Given the description of an element on the screen output the (x, y) to click on. 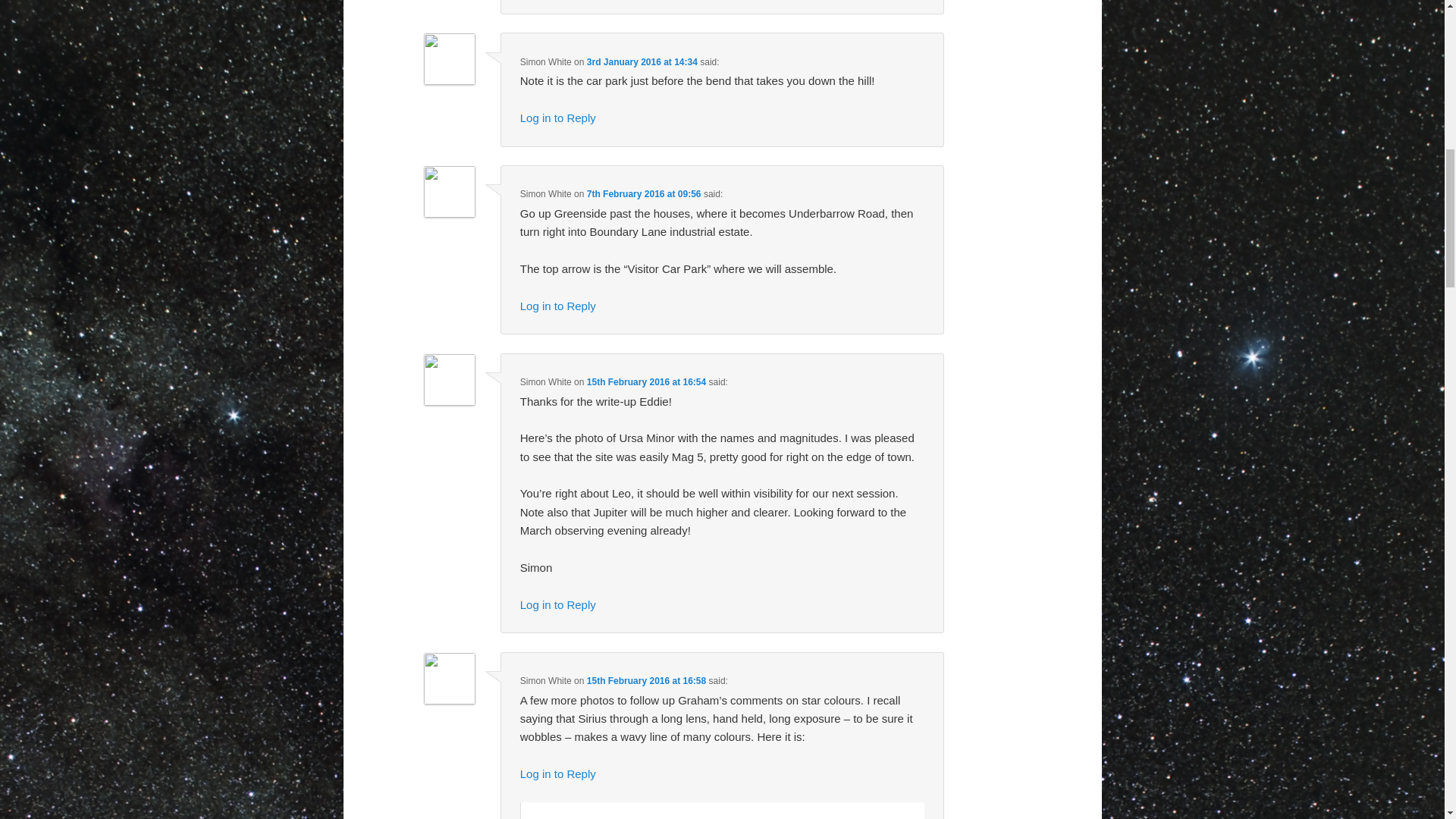
7th February 2016 at 09:56 (643, 194)
Log in to Reply (557, 117)
Log in to Reply (557, 604)
Log in to Reply (557, 773)
3rd January 2016 at 14:34 (641, 61)
Log in to Reply (557, 305)
15th February 2016 at 16:54 (646, 381)
15th February 2016 at 16:58 (646, 680)
